Given the description of an element on the screen output the (x, y) to click on. 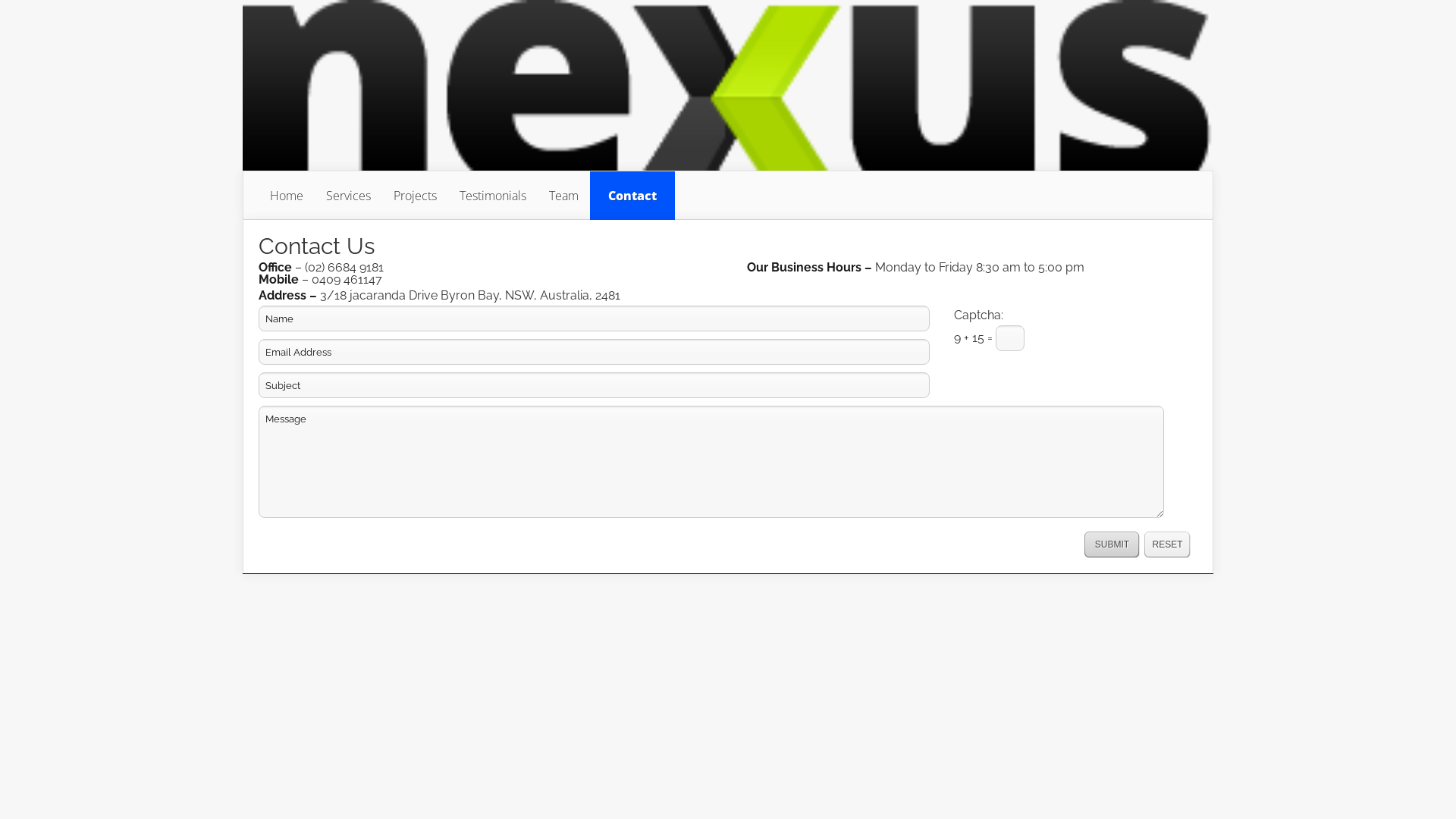
Contact Element type: text (631, 195)
Testimonials Element type: text (492, 195)
Submit Element type: text (1111, 544)
Projects Element type: text (415, 195)
Team Element type: text (563, 195)
Home Element type: text (286, 195)
Services Element type: text (348, 195)
